Given the description of an element on the screen output the (x, y) to click on. 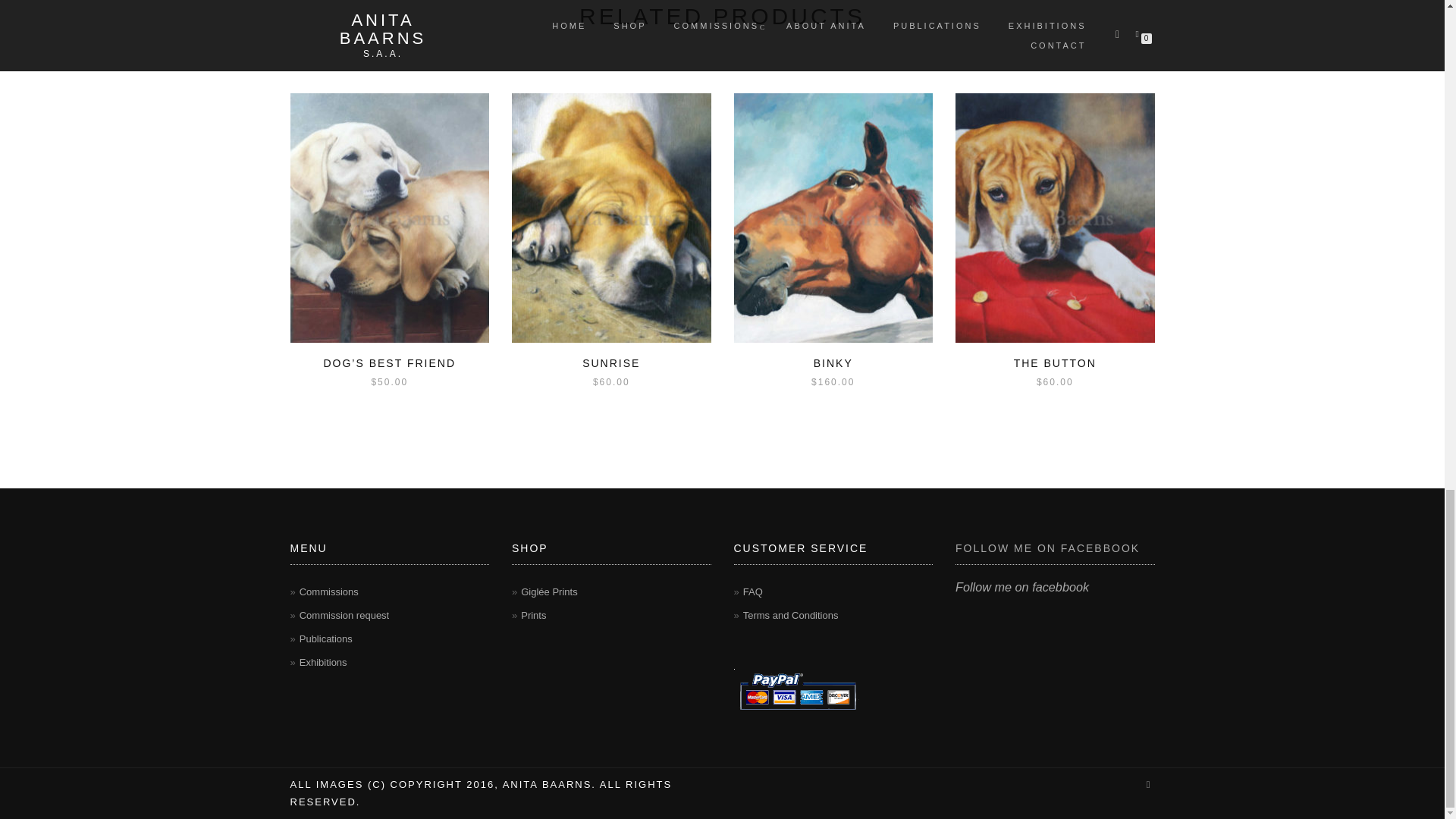
Prints (533, 614)
Follow me on facebbook (1022, 586)
FAQ (752, 591)
Binky (832, 218)
Commission request (344, 614)
Commissions (328, 591)
Exhibitions (323, 662)
Publications (325, 638)
Sunrise (611, 218)
The Button (1054, 218)
Terms and Conditions (790, 614)
Dog's Best Friend (389, 218)
FOLLOW ME ON FACEBBOOK (1047, 548)
